Given the description of an element on the screen output the (x, y) to click on. 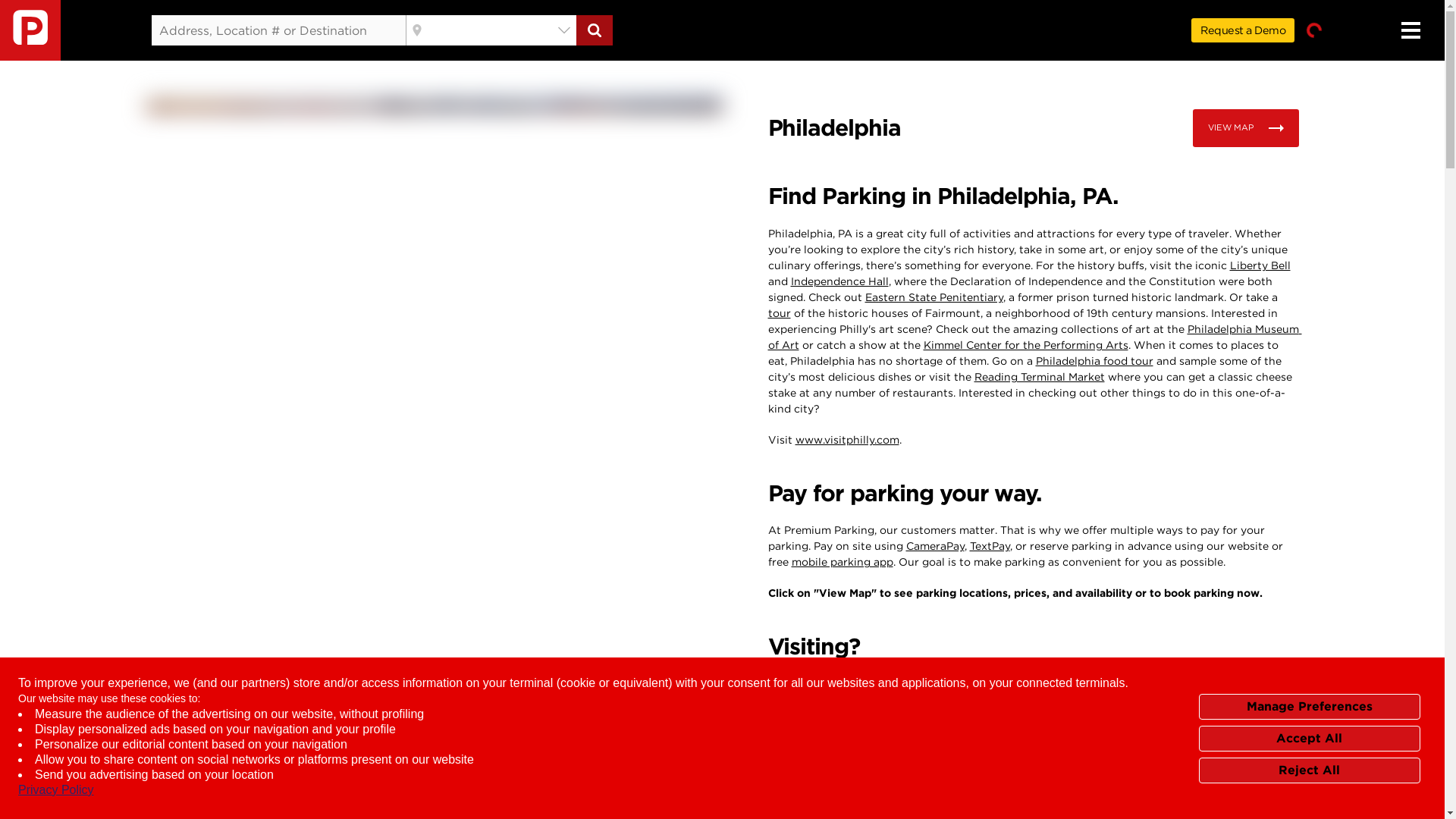
Accept All (1309, 737)
Reading Terminal Market (1038, 377)
Eastern State Penitentiary (933, 297)
Wyndham (1129, 684)
mobile parking app (842, 562)
Privacy Policy (55, 789)
VIEW MAP (1245, 127)
Philadelphia Museum of Art (1034, 336)
Search (594, 30)
Independence Hall (839, 281)
